Given the description of an element on the screen output the (x, y) to click on. 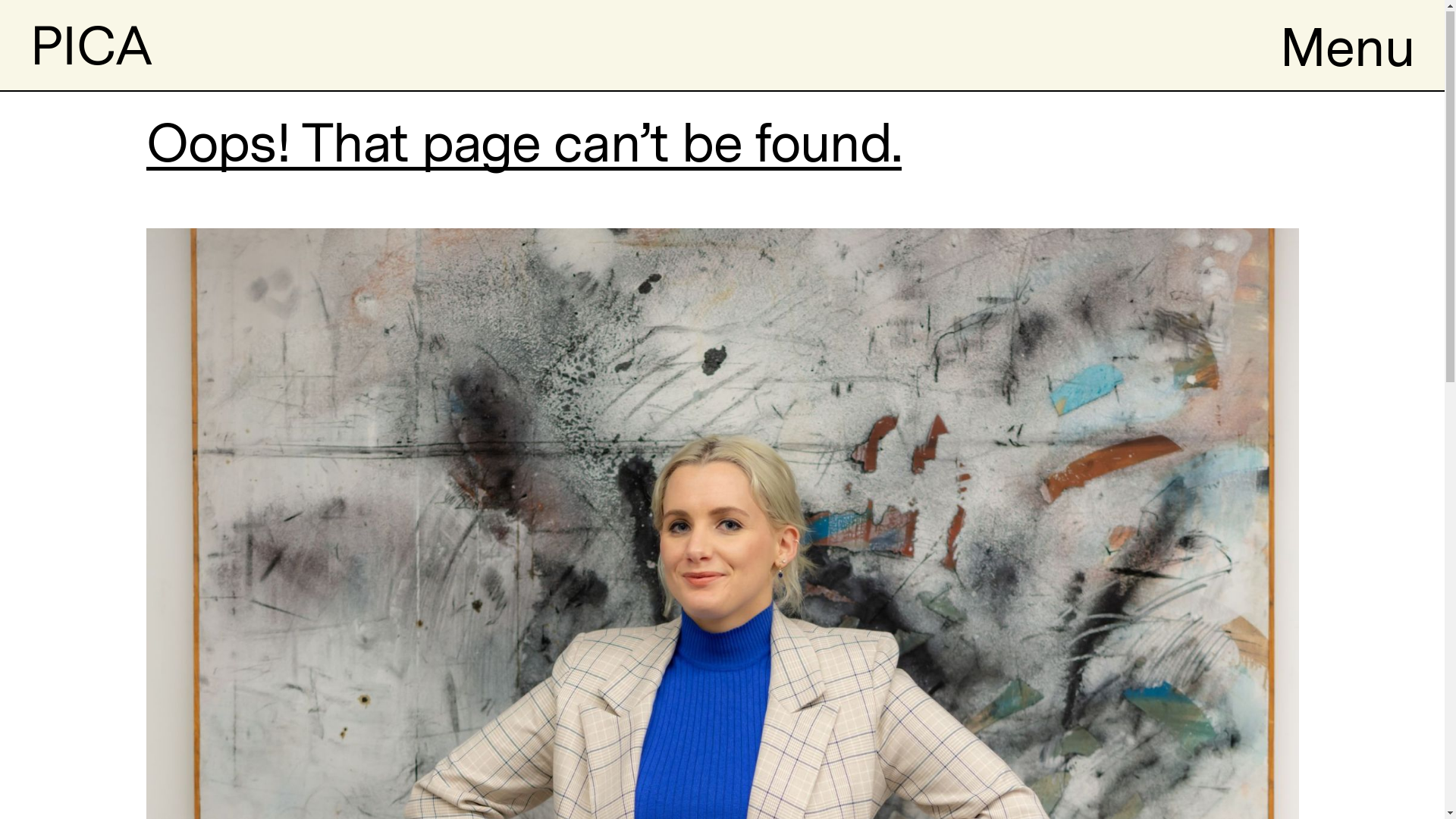
Menu
Menu Element type: text (1347, 46)
PICA Element type: text (91, 45)
